Given the description of an element on the screen output the (x, y) to click on. 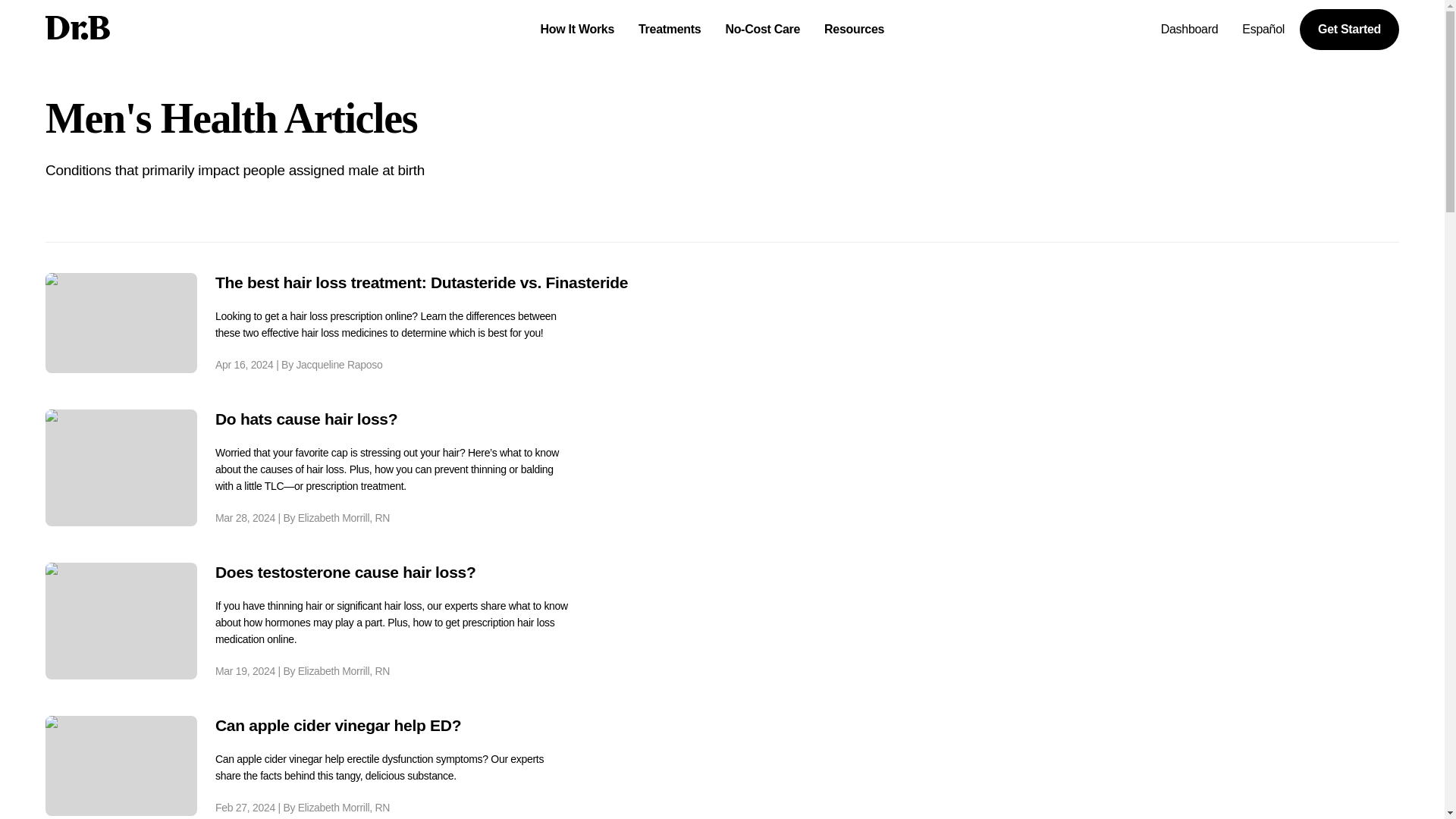
Can apple cider vinegar help ED? (392, 725)
Does testosterone cause hair loss? (392, 572)
The best hair loss treatment: Dutasteride vs. Finasteride (421, 282)
Do hats cause hair loss? (392, 419)
Resources (854, 28)
Dashboard (1189, 28)
Treatments (669, 28)
How It Works (577, 28)
No-Cost Care (762, 28)
Get Started (1349, 29)
